Given the description of an element on the screen output the (x, y) to click on. 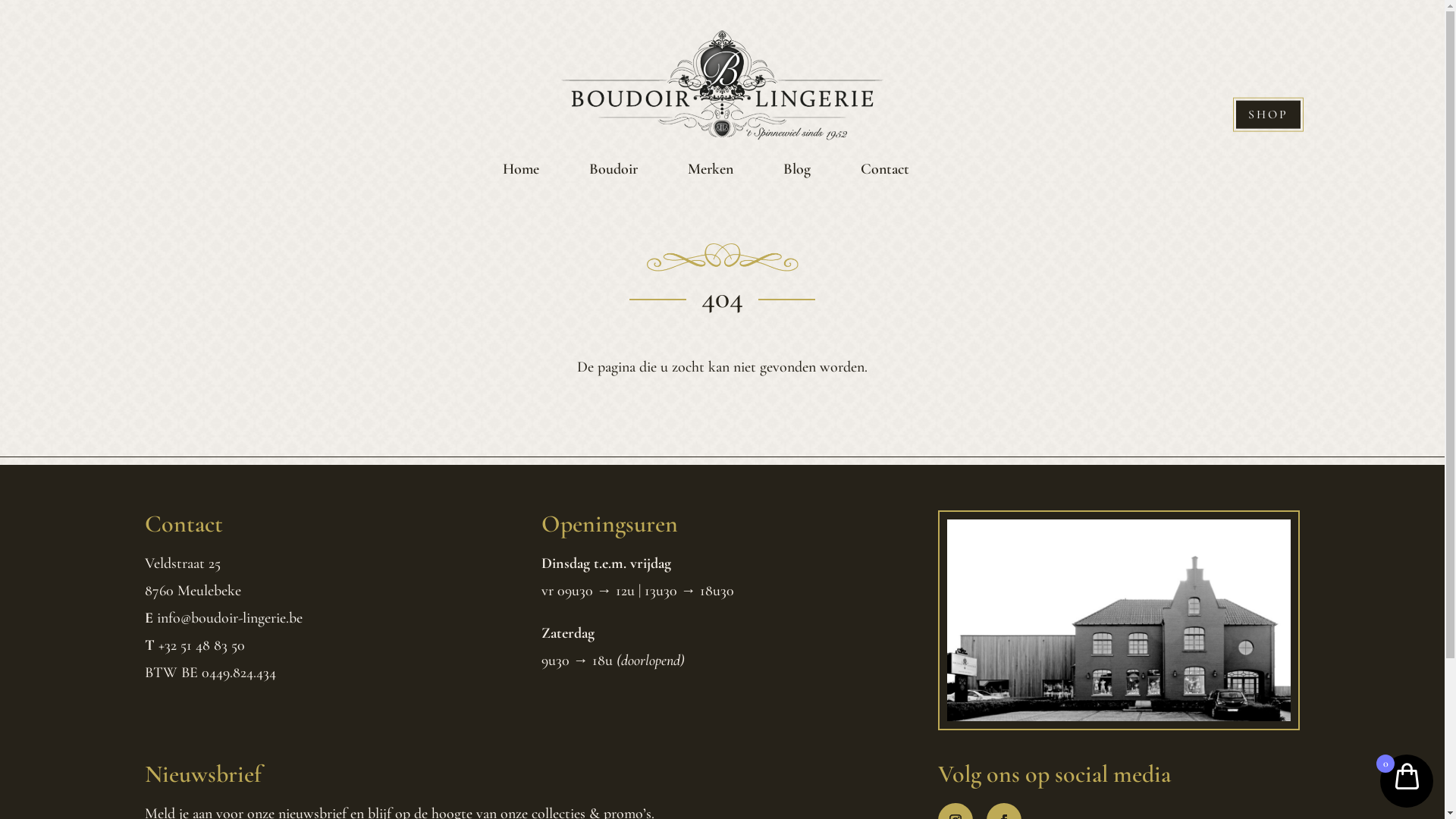
Contact Element type: text (883, 168)
ornament Element type: hover (721, 256)
Blog Element type: text (795, 168)
Boudoir Element type: text (612, 168)
Boudoir-lingerie-greyscale Element type: hover (1119, 620)
info@boudoir-lingerie.be Element type: text (228, 617)
Merken Element type: text (709, 168)
SHOP Element type: text (1268, 114)
Home Element type: text (520, 168)
+32 51 48 83 50 Element type: text (200, 645)
